Given the description of an element on the screen output the (x, y) to click on. 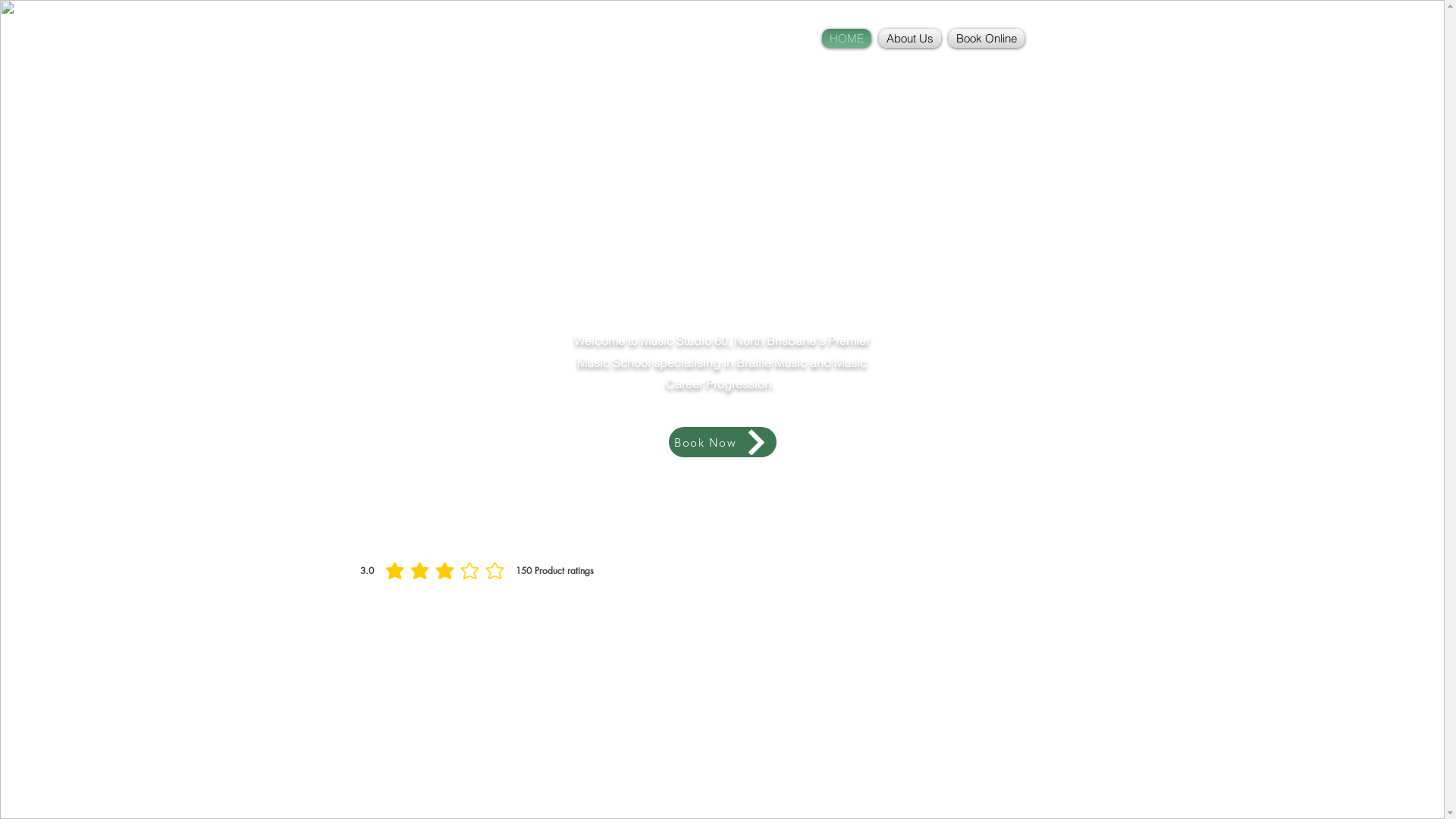
Book Now Element type: text (722, 441)
Book Online Element type: text (984, 37)
HOME Element type: text (845, 37)
About Us Element type: text (909, 37)
Log In Element type: text (1055, 29)
